Given the description of an element on the screen output the (x, y) to click on. 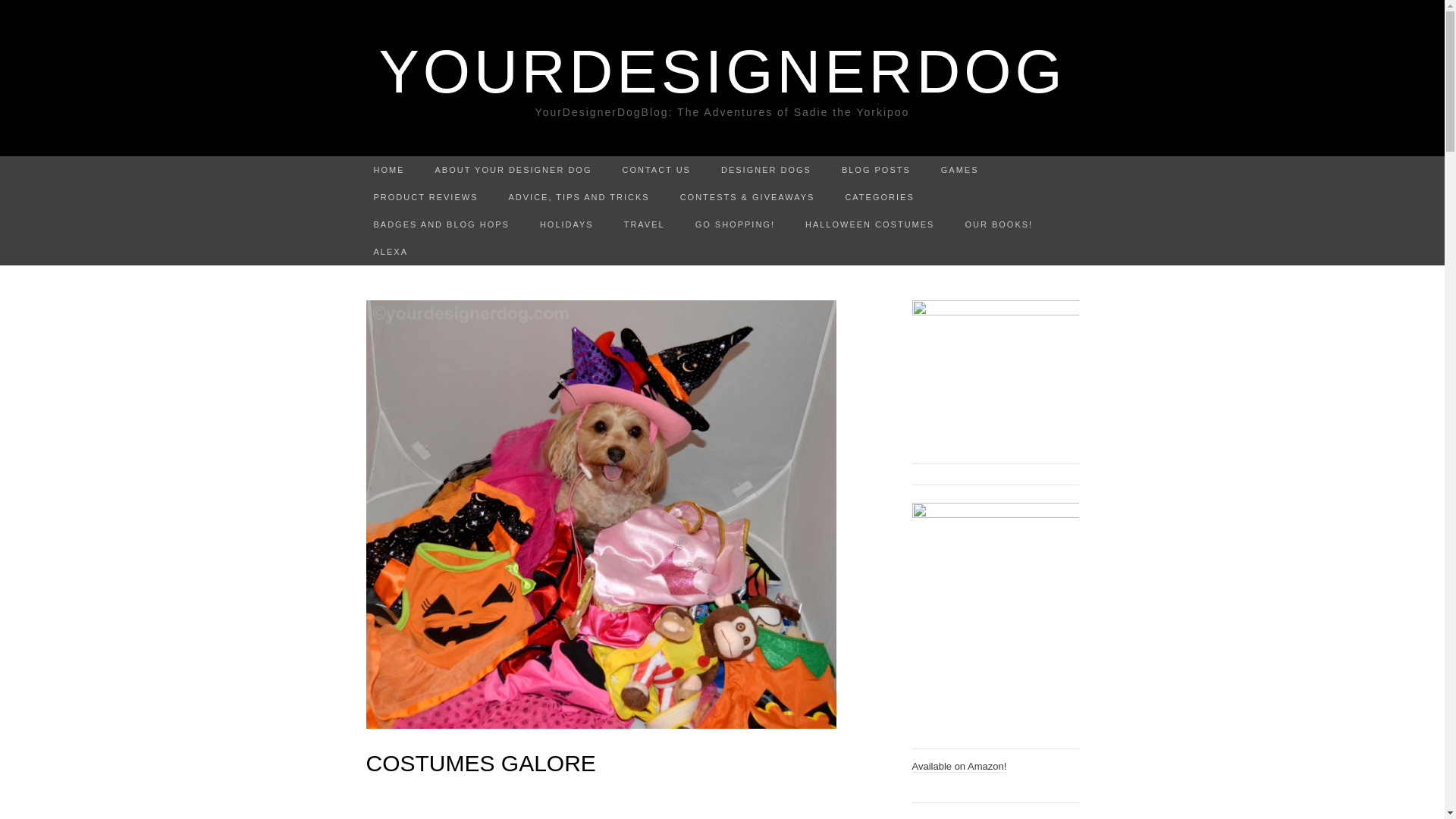
ALEXA (390, 251)
HALLOWEEN COSTUMES (869, 224)
DESIGNER DOGS (766, 169)
Search (16, 12)
BLOG POSTS (876, 169)
ADVICE, TIPS AND TRICKS (578, 196)
GO SHOPPING! (734, 224)
CATEGORIES (878, 196)
GAMES (960, 169)
HOLIDAYS (566, 224)
